Given the description of an element on the screen output the (x, y) to click on. 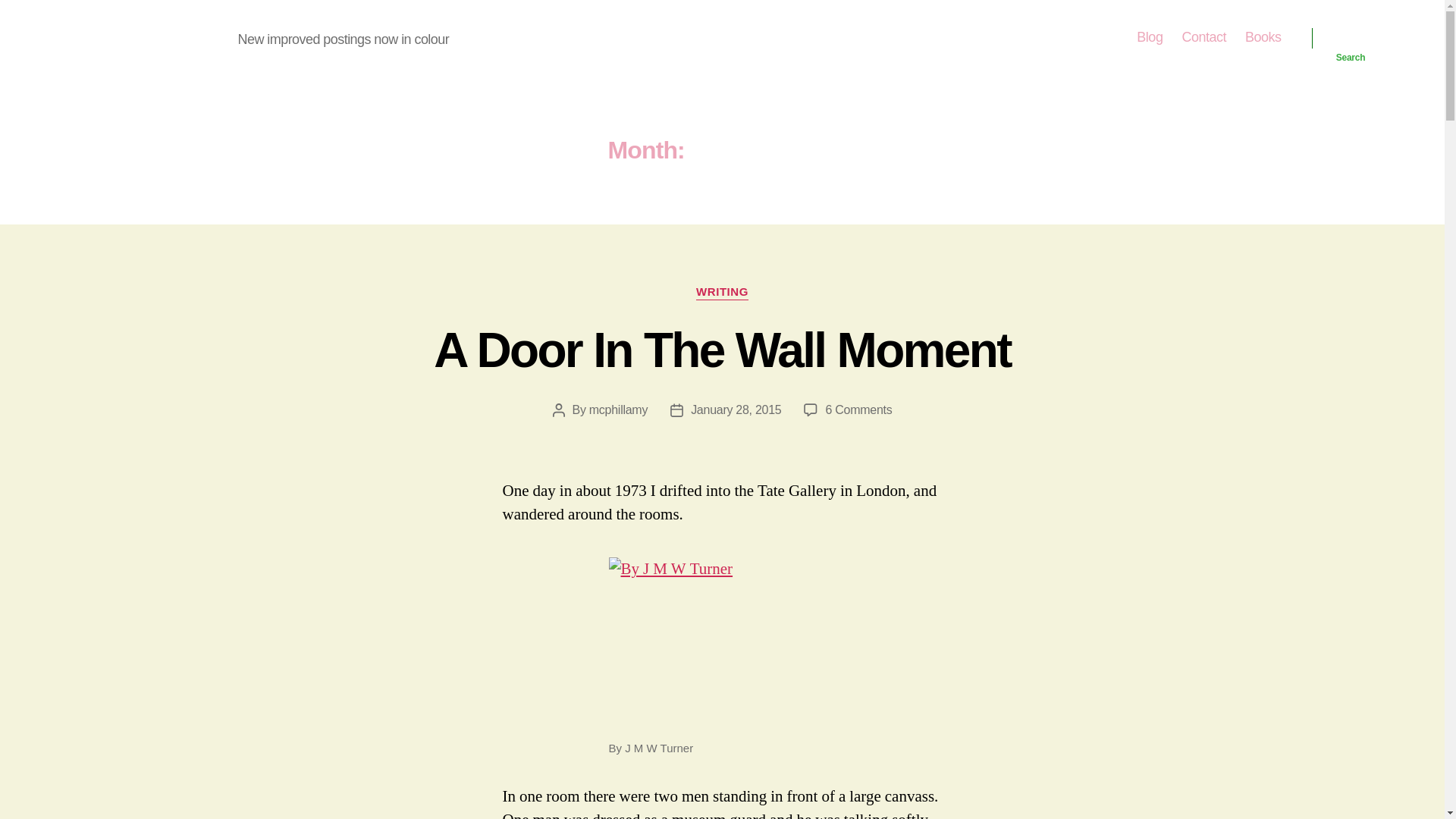
Contact (1202, 37)
WRITING (721, 292)
January 28, 2015 (735, 409)
Blog (1149, 37)
Books (1262, 37)
McPhillamy Blog (151, 37)
A Door In The Wall Moment (721, 349)
mcphillamy (618, 409)
Search (858, 409)
